Given the description of an element on the screen output the (x, y) to click on. 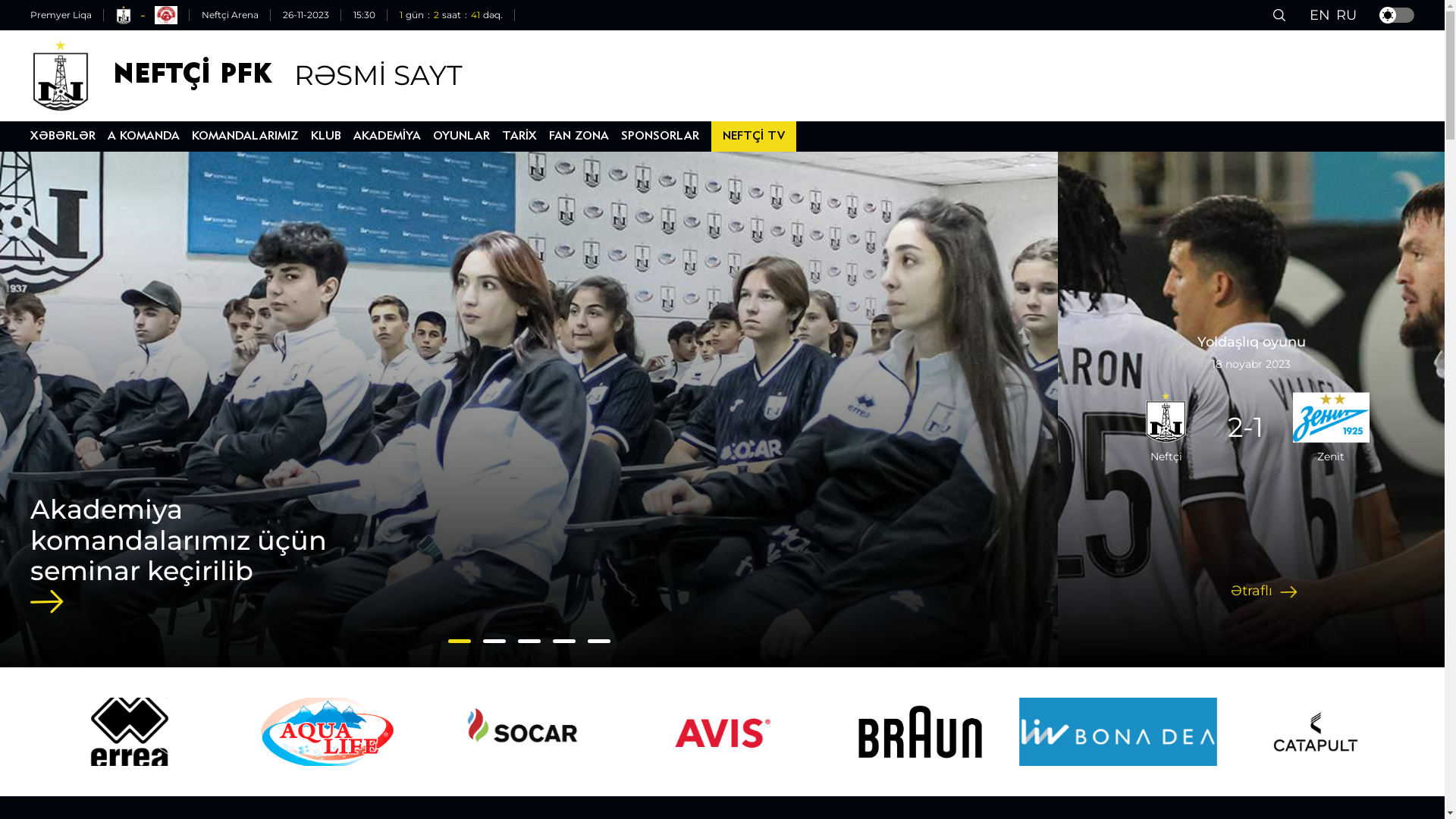
A KOMANDA Element type: text (143, 136)
EN Element type: text (1319, 15)
RU Element type: text (1346, 15)
KLUB Element type: text (325, 136)
SPONSORLAR Element type: text (660, 136)
KOMANDALARIMIZ Element type: text (244, 136)
OYUNLAR Element type: text (461, 136)
FAN ZONA Element type: text (578, 136)
